Given the description of an element on the screen output the (x, y) to click on. 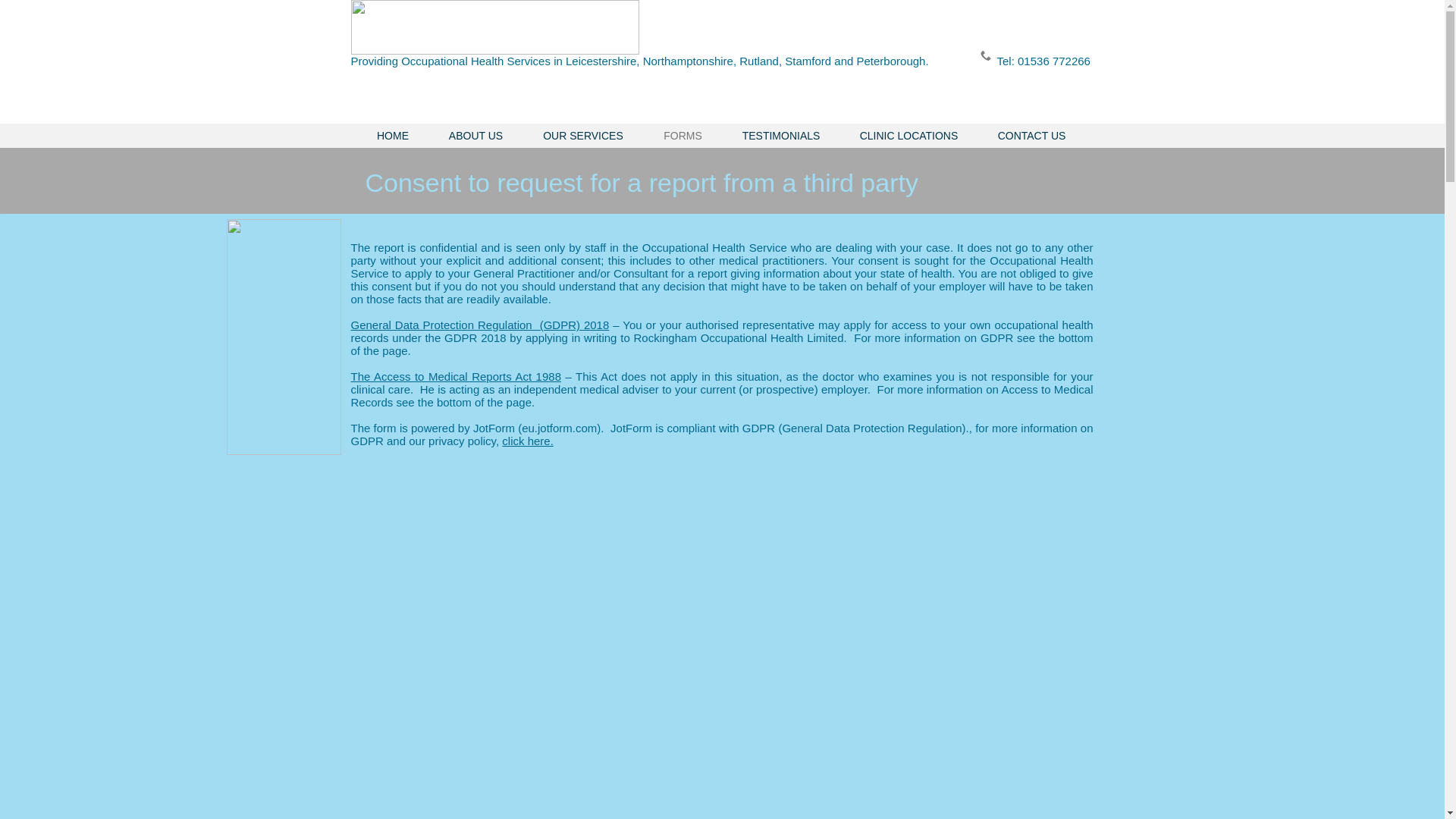
CLINIC LOCATIONS (909, 136)
HOME (392, 136)
OUR SERVICES (582, 136)
ABOUT US (475, 136)
CONTACT US (1032, 136)
click here. (527, 440)
FORMS (682, 136)
TESTIMONIALS (781, 136)
